Given the description of an element on the screen output the (x, y) to click on. 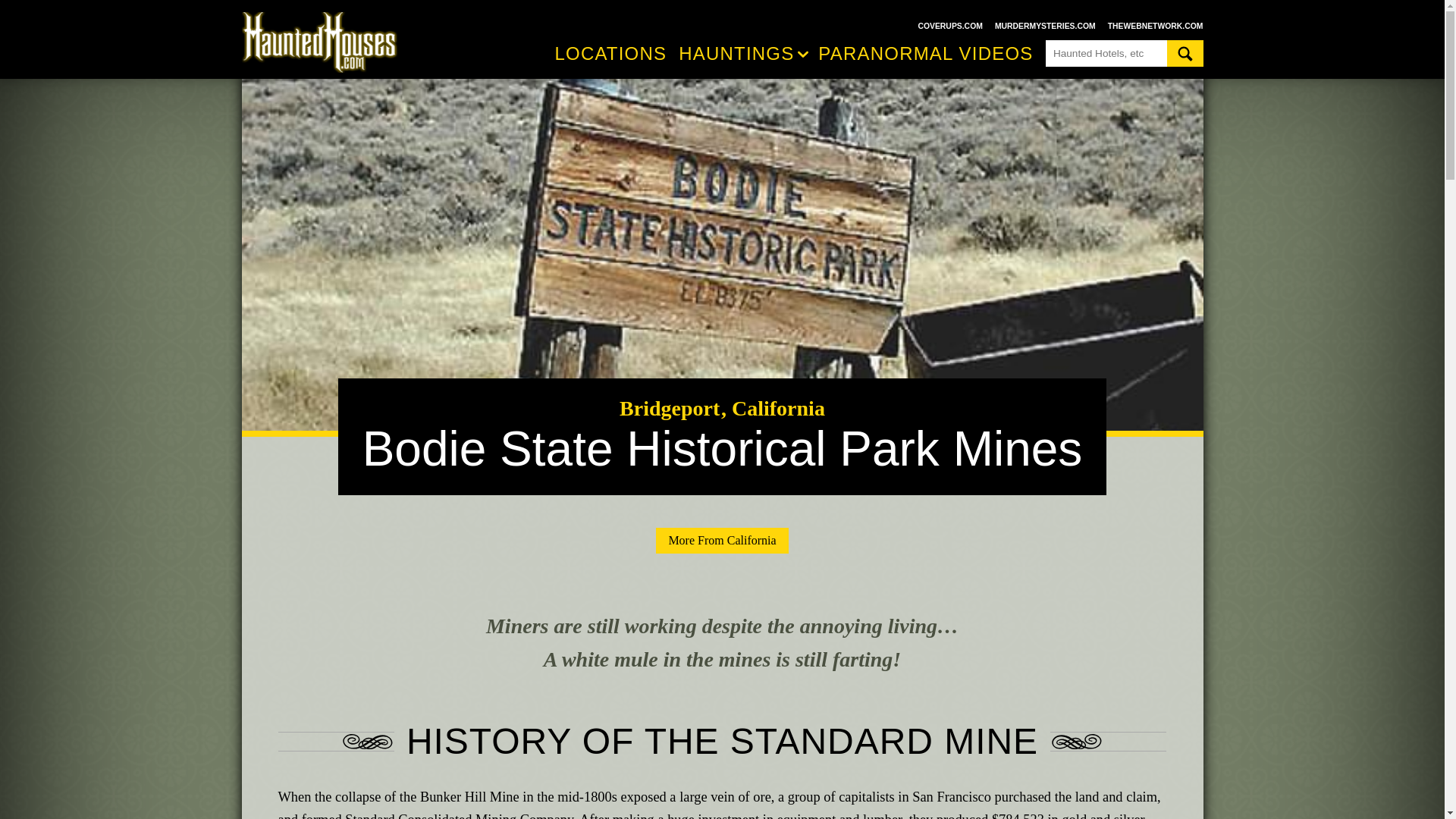
California (775, 408)
LOCATIONS (610, 53)
Cover Ups (949, 26)
HAUNTINGS (745, 53)
PArent Organization: The Web Network (1156, 26)
Return to the home page (325, 42)
COVERUPS.COM (949, 26)
THEWEBNETWORK.COM (1156, 26)
More From California (721, 540)
MURDERMYSTERIES.COM (1045, 26)
PARANORMAL VIDEOS (925, 53)
